Given the description of an element on the screen output the (x, y) to click on. 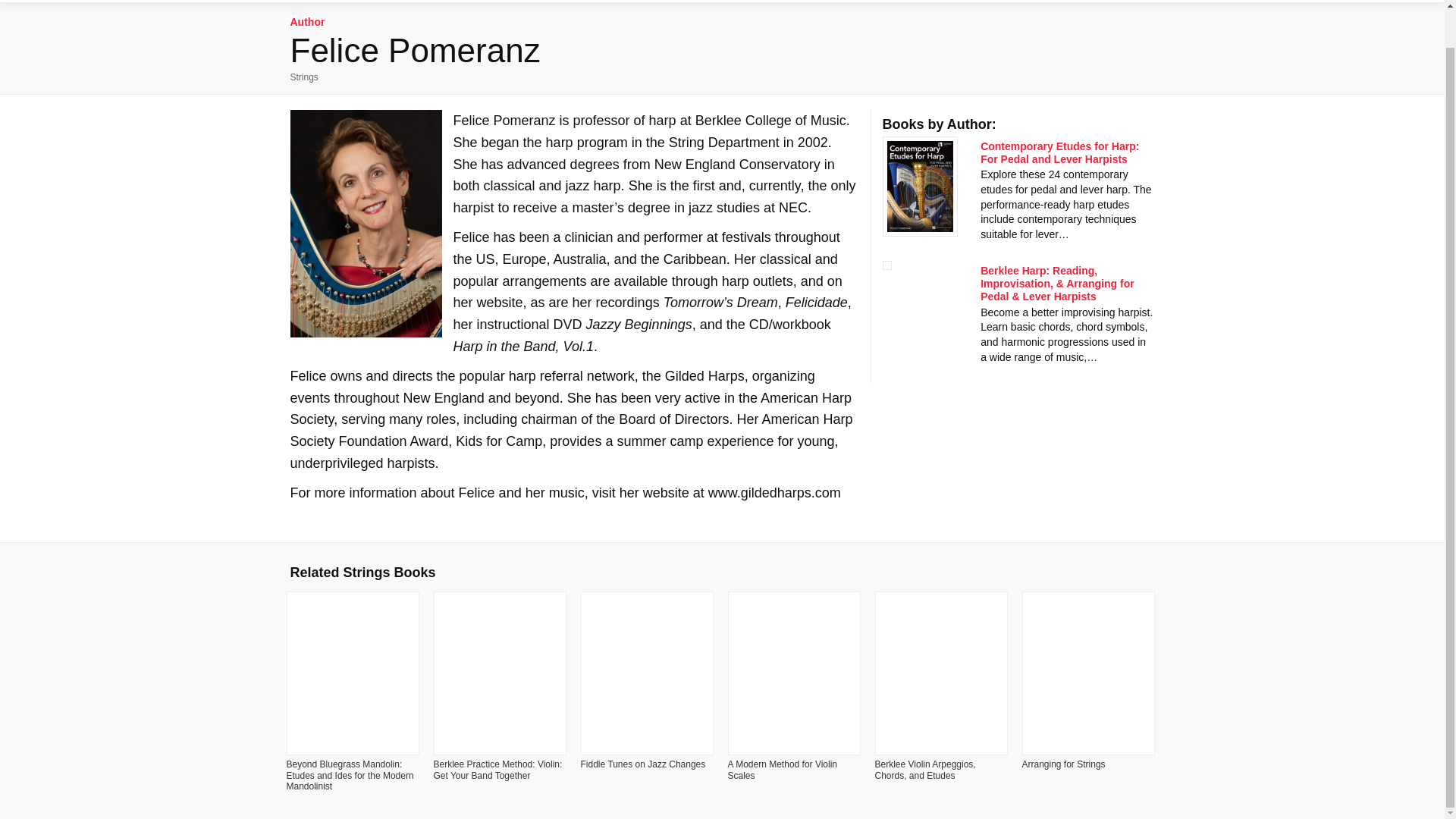
Contemporary Etudes for Harp (1058, 152)
Fiddle Tunes on Jazz Changes (643, 764)
A Modern Method for Violin Scales (783, 769)
About Us (553, 0)
Author (306, 21)
Berklee Harp (1056, 283)
Contemporary Etudes for Harp: For Pedal and Lever Harpists (1058, 152)
Arranging for Strings (1063, 764)
Berklee Practice Method: Violin (497, 769)
Strings (303, 77)
Beyond Bluegrass Mandolin (349, 775)
Berklee Online (639, 1)
Books (423, 1)
Authors (486, 0)
Berklee Violin Arpeggios, Chords, and Etudes (925, 769)
